Given the description of an element on the screen output the (x, y) to click on. 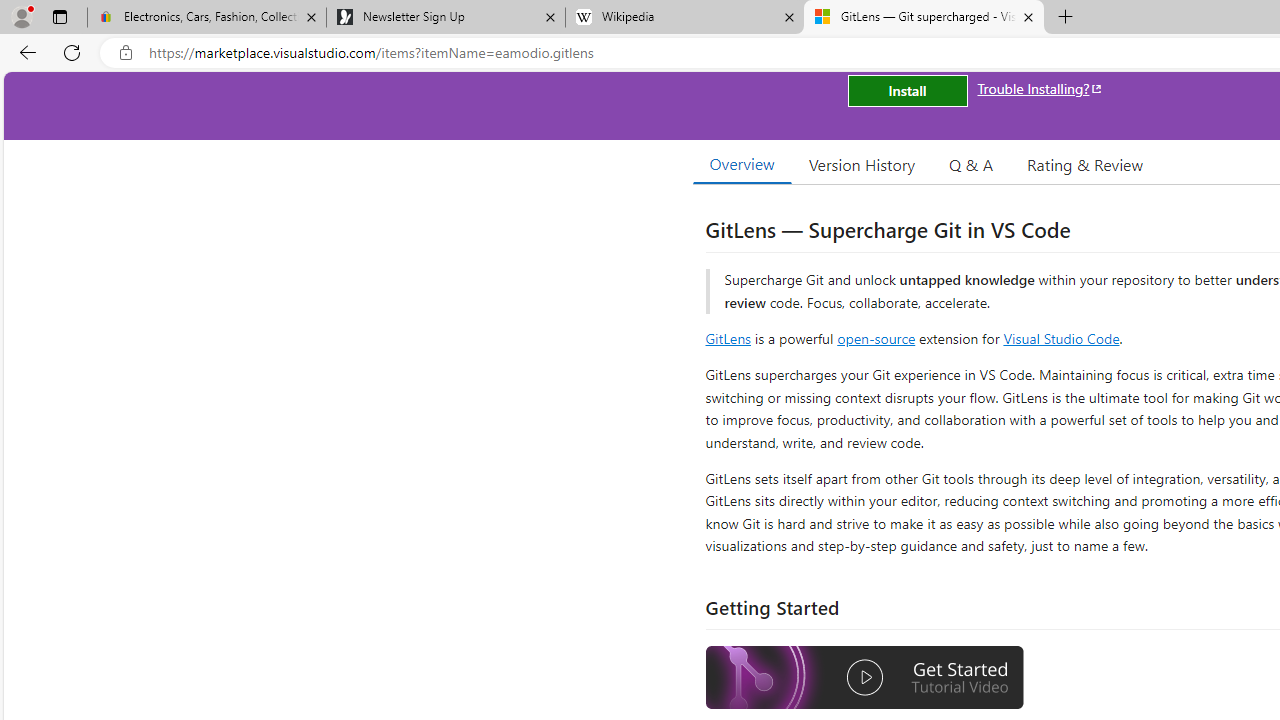
Watch the GitLens Getting Started video (865, 678)
Install (907, 90)
Newsletter Sign Up (445, 17)
Q & A (971, 164)
Visual Studio Code (1061, 337)
Version History (862, 164)
GitLens (728, 337)
